Given the description of an element on the screen output the (x, y) to click on. 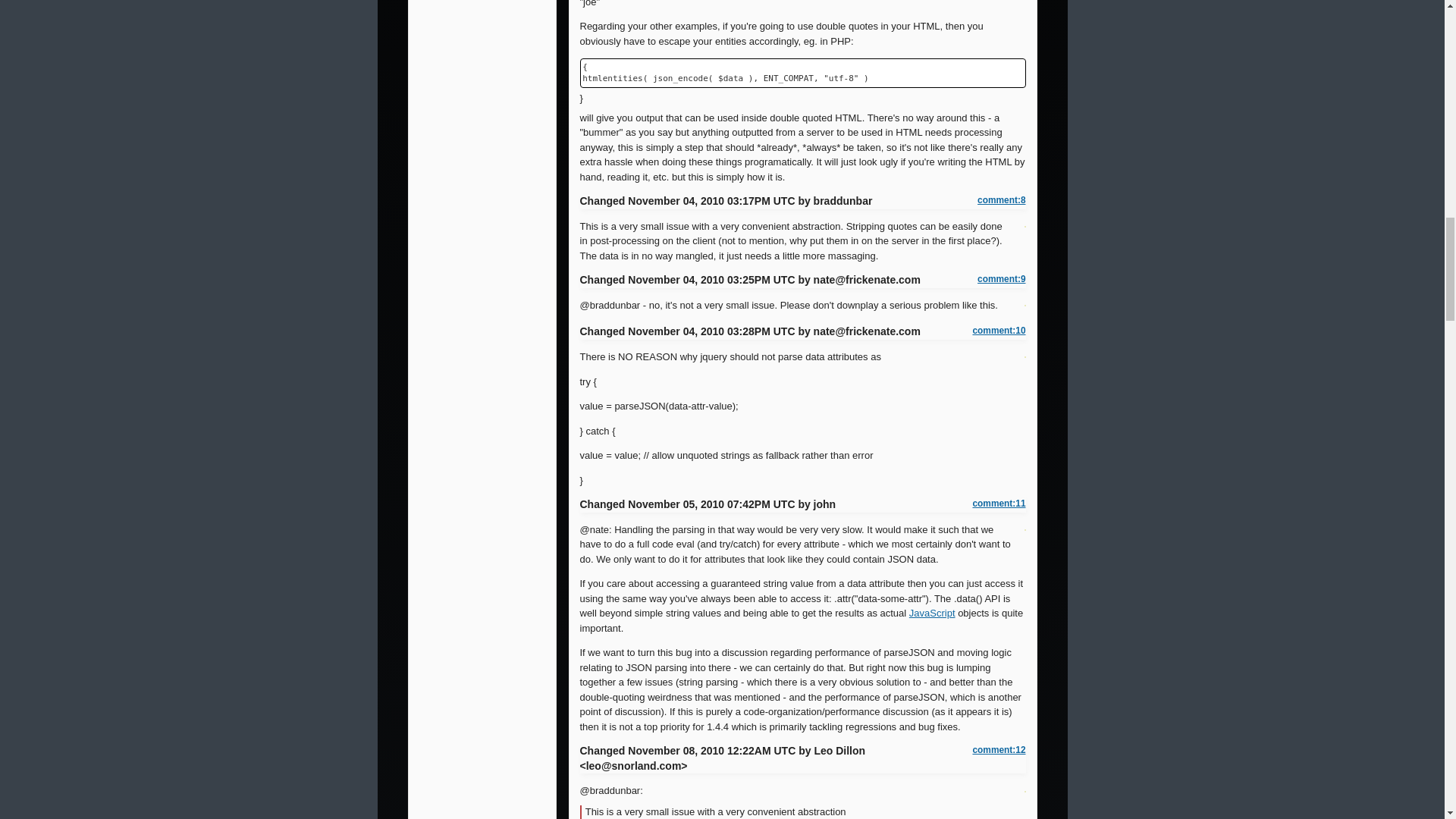
comment:9 (1000, 278)
comment:8 (1000, 200)
comment:10 (998, 330)
